Given the description of an element on the screen output the (x, y) to click on. 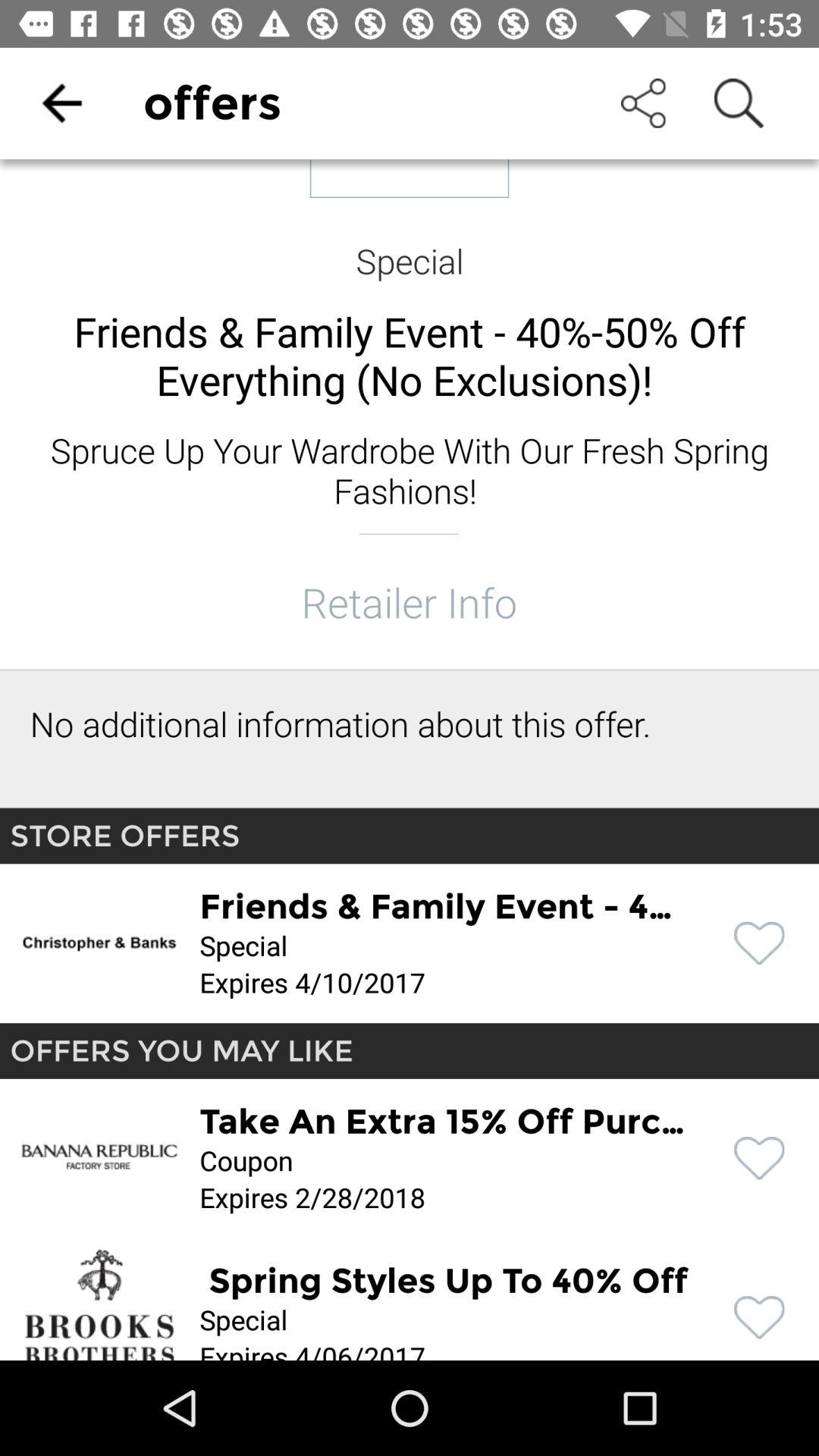
select the item to the left of offers (61, 103)
